Given the description of an element on the screen output the (x, y) to click on. 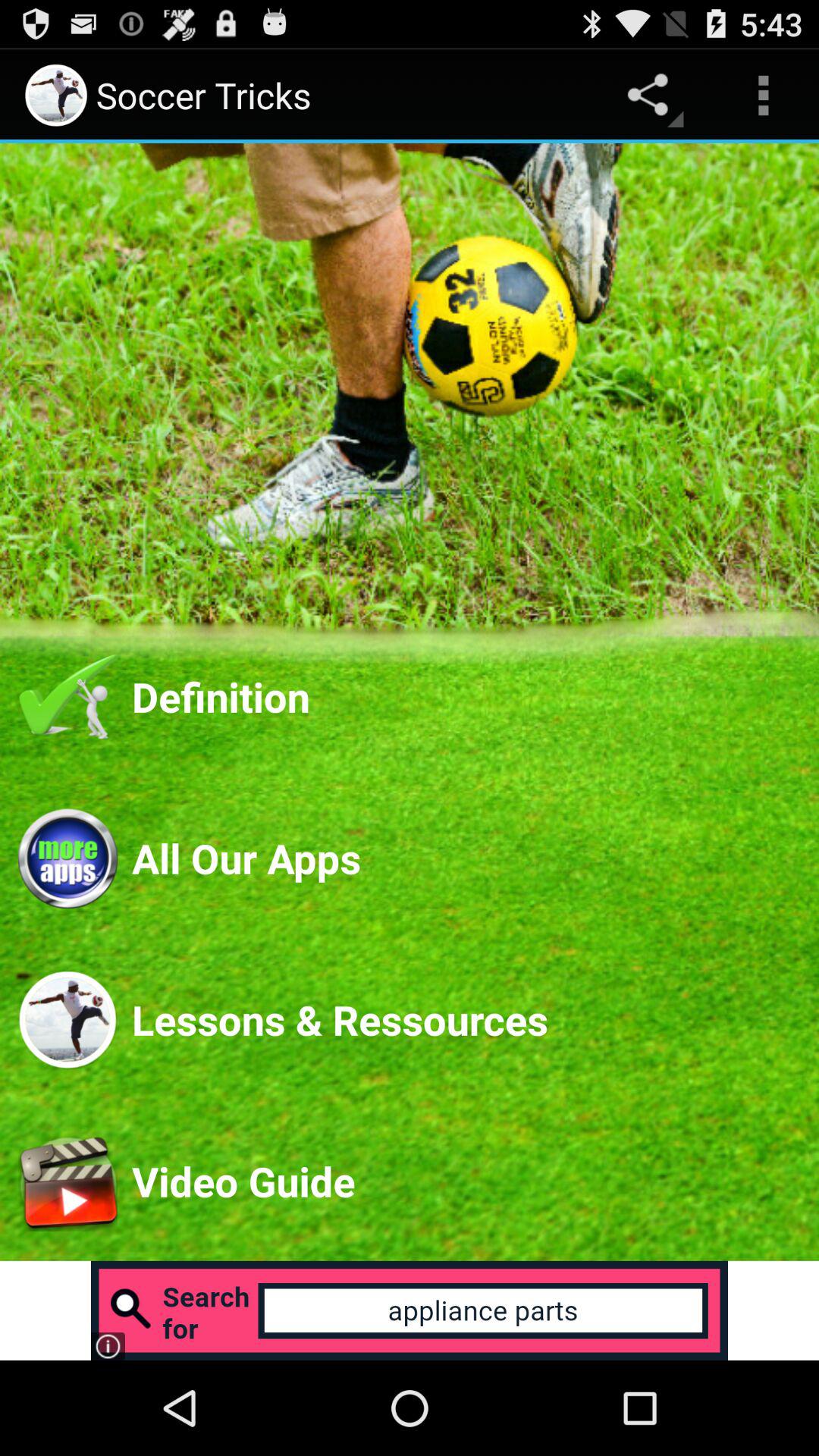
click the video guide (67, 1180)
